Given the description of an element on the screen output the (x, y) to click on. 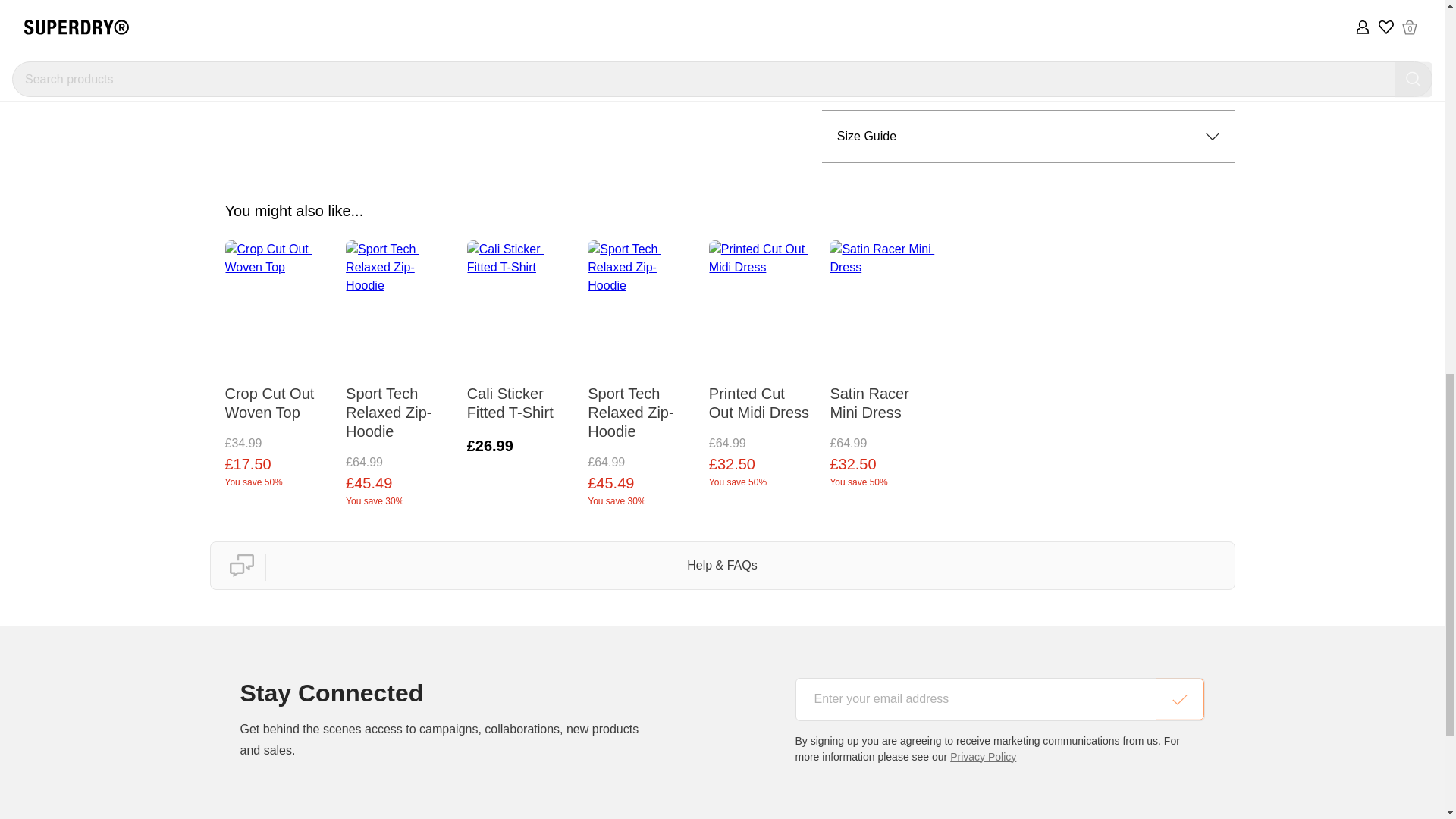
Cali Sticker Fitted T-Shirt (520, 395)
Crop Cut Out Woven Top (277, 395)
Free UK Standard Delivery (1028, 31)
Size Guide (1028, 136)
Sport Tech Relaxed Zip-Hoodie (398, 405)
Sport Tech Relaxed Zip-Hoodie (641, 405)
